Given the description of an element on the screen output the (x, y) to click on. 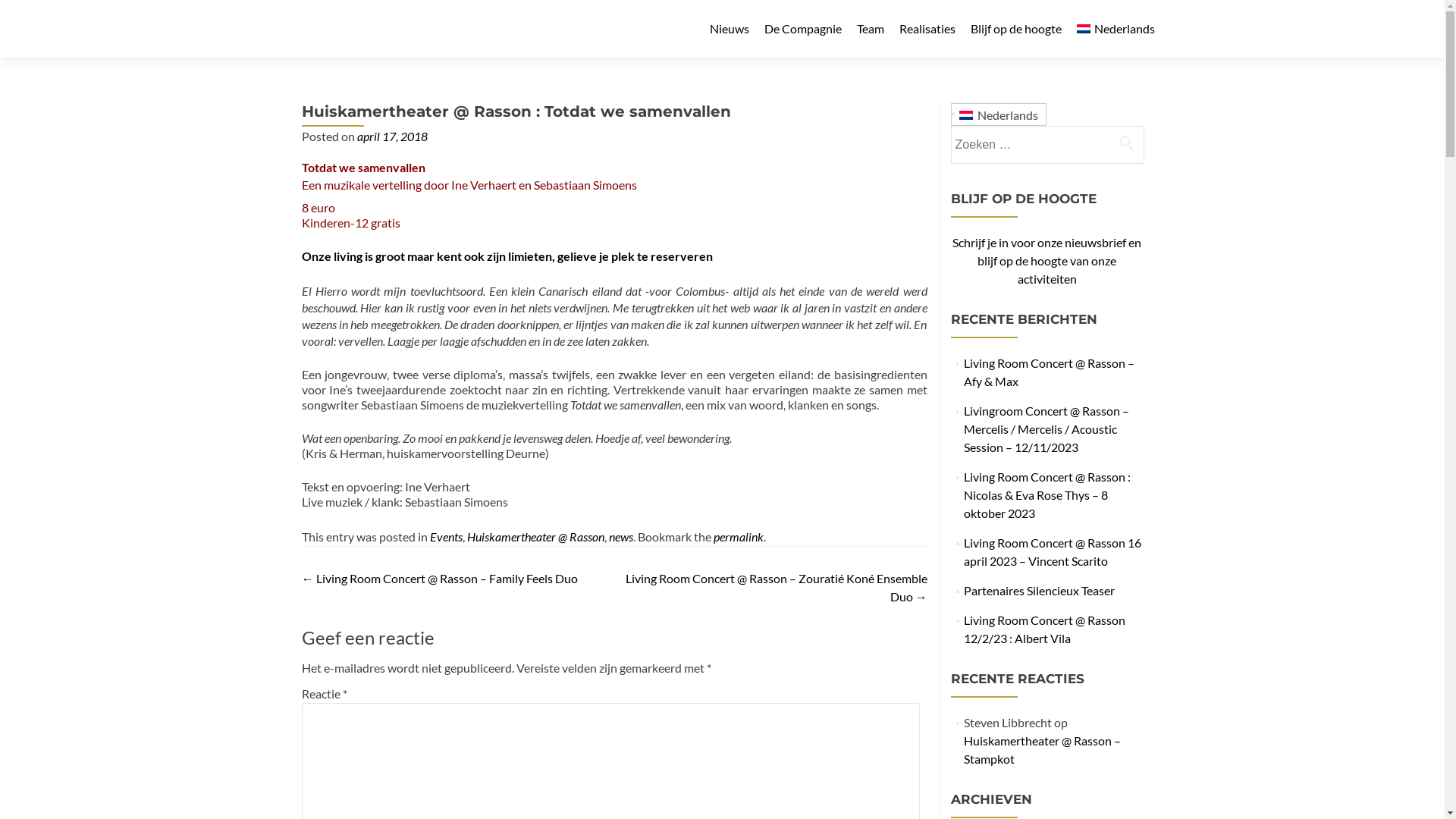
Nederlands Element type: text (1115, 28)
Huiskamertheater @ Rasson Element type: text (535, 536)
Blijf op de hoogte Element type: text (1015, 28)
Zoeken Element type: text (1125, 142)
Nieuws Element type: text (729, 28)
Living Room Concert @ Rasson 12/2/23 : Albert Vila Element type: text (1044, 628)
news Element type: text (620, 536)
Partenaires Silencieux Teaser Element type: text (1038, 590)
permalink Element type: text (737, 536)
De Compagnie Element type: text (802, 28)
Events Element type: text (445, 536)
Realisaties Element type: text (927, 28)
Team Element type: text (870, 28)
Nederlands Element type: text (997, 114)
april 17, 2018 Element type: text (391, 135)
